Given the description of an element on the screen output the (x, y) to click on. 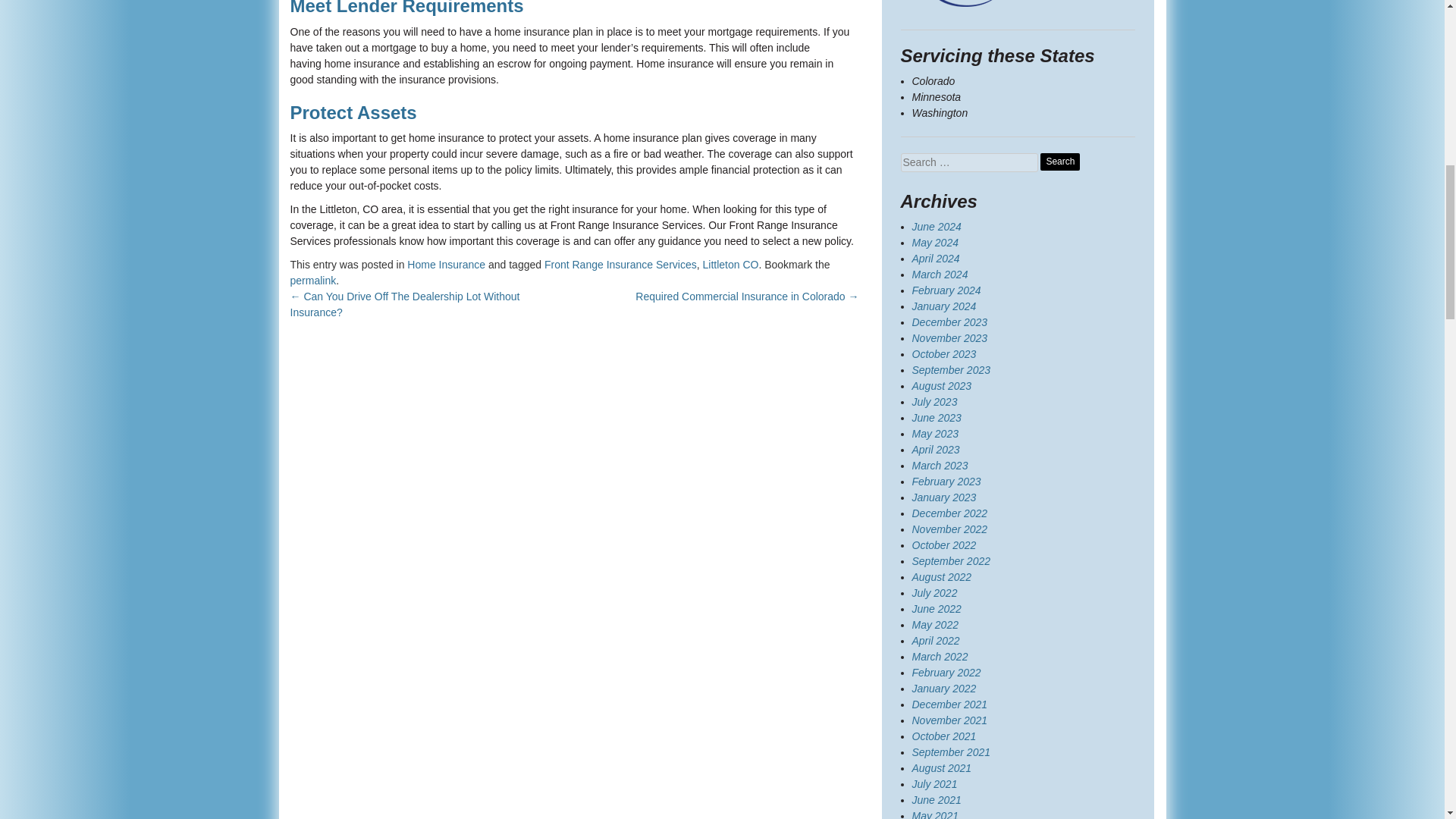
Search (1060, 161)
Search (1060, 161)
